Given the description of an element on the screen output the (x, y) to click on. 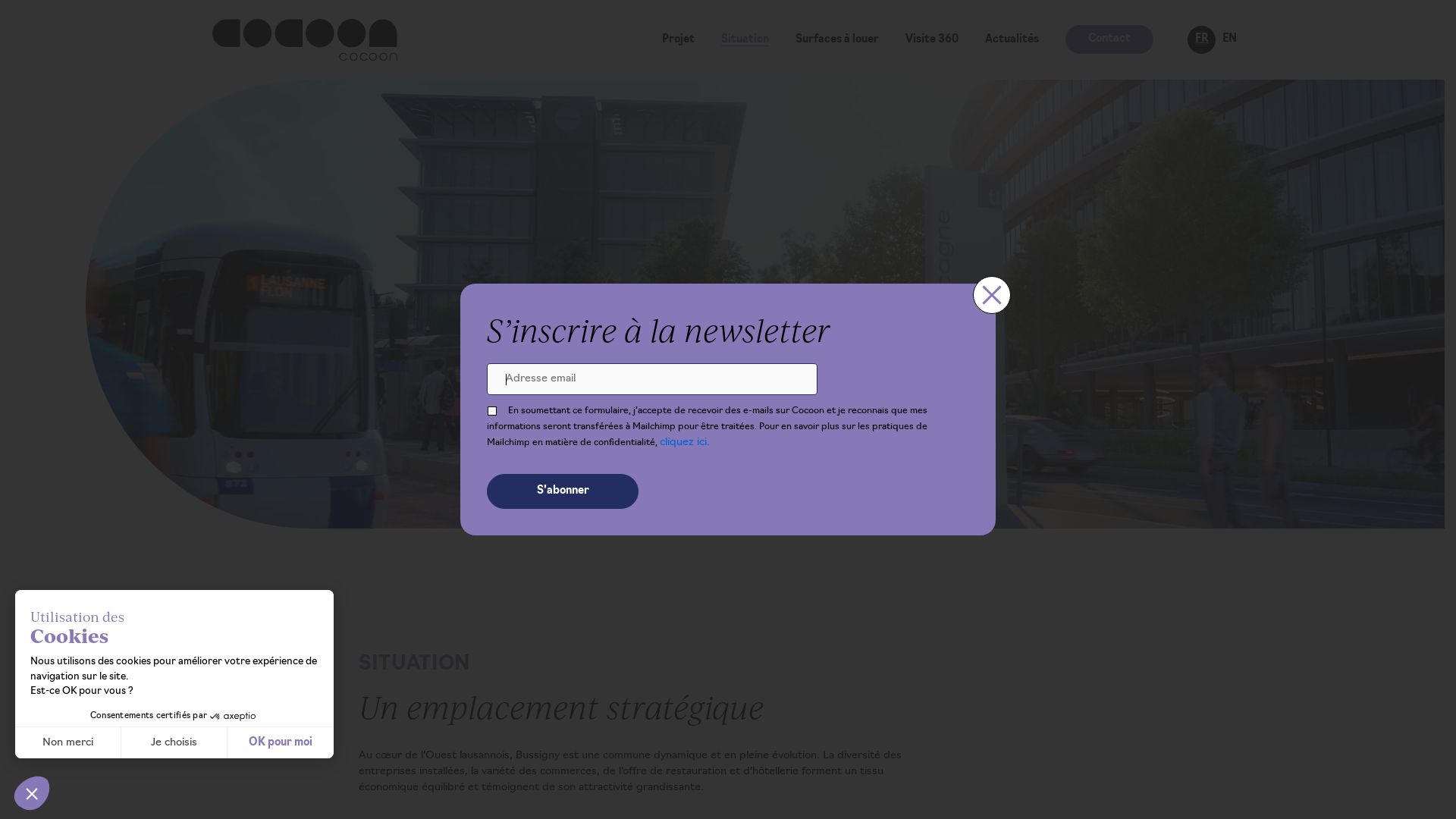
Visite 360 Element type: text (931, 39)
Close Element type: hover (991, 294)
FR Element type: text (1201, 39)
Contact Element type: text (1109, 39)
Je choisis Element type: text (174, 742)
Non merci Element type: text (68, 742)
Fermer le widget sans consentement Element type: hover (31, 793)
OK pour moi Element type: text (280, 742)
cliquez ici. Element type: text (684, 442)
EN Element type: text (1229, 39)
Situation Element type: text (744, 39)
Projet Element type: text (678, 39)
